Given the description of an element on the screen output the (x, y) to click on. 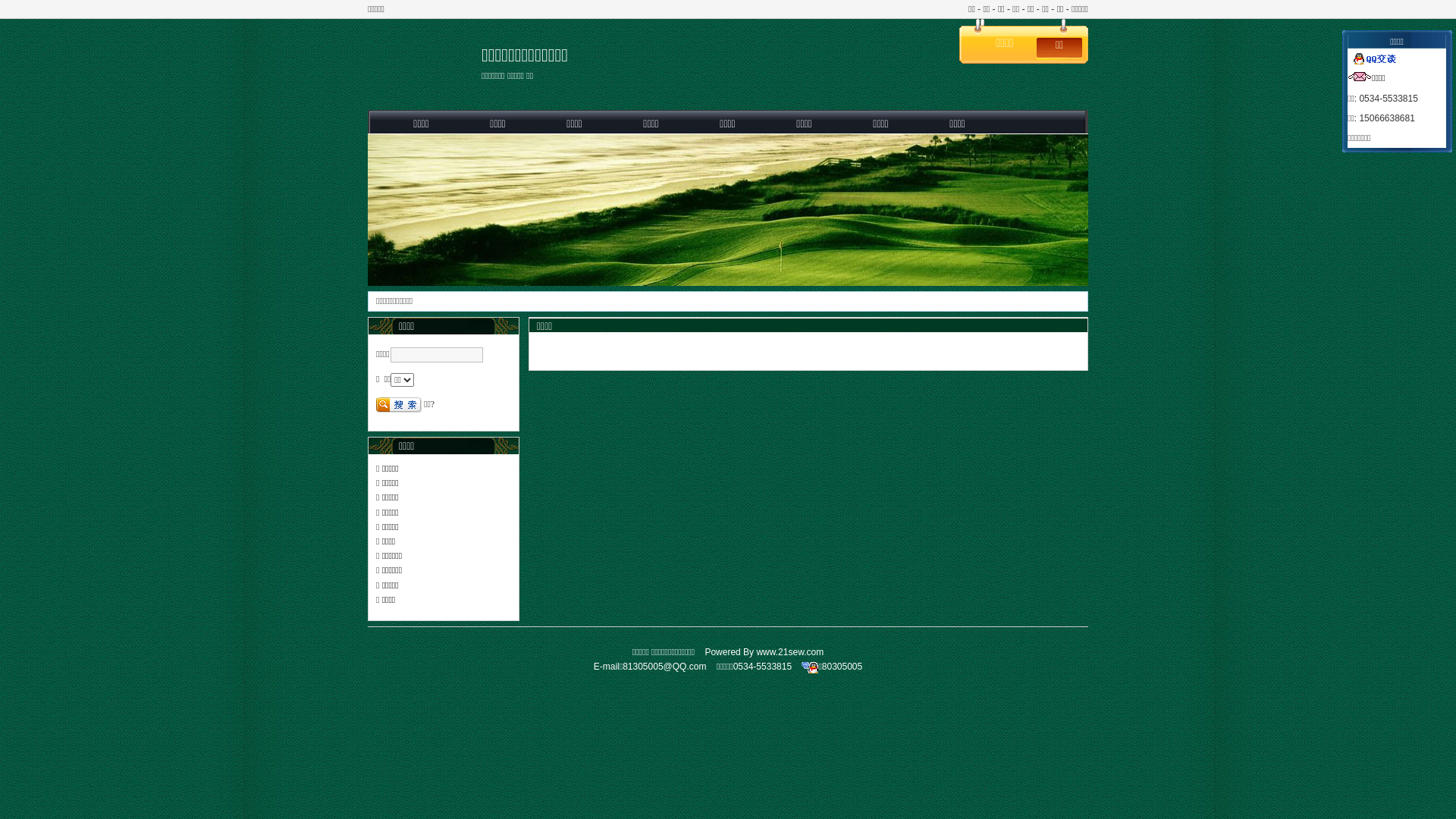
80305005 Element type: text (842, 666)
www.21sew.com Element type: text (789, 651)
81305005@QQ.com Element type: text (664, 666)
